Given the description of an element on the screen output the (x, y) to click on. 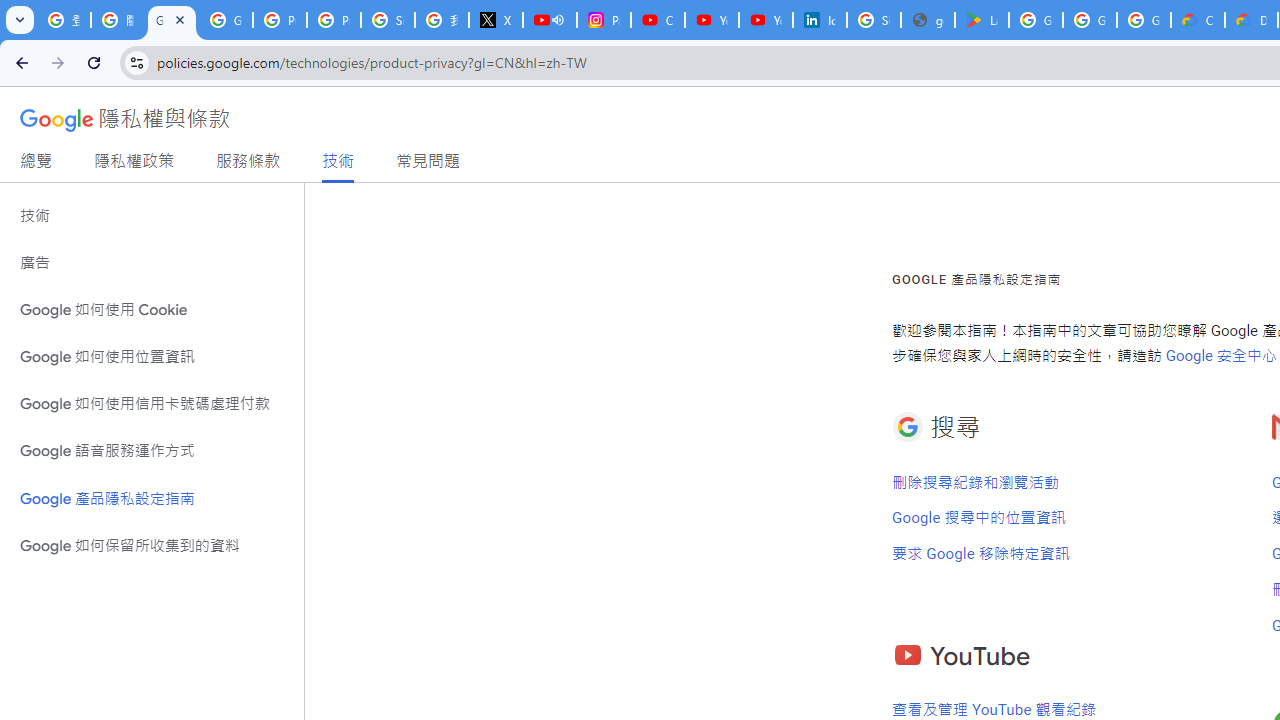
Mute tab (557, 20)
Privacy Help Center - Policies Help (333, 20)
google_privacy_policy_en.pdf (927, 20)
